Given the description of an element on the screen output the (x, y) to click on. 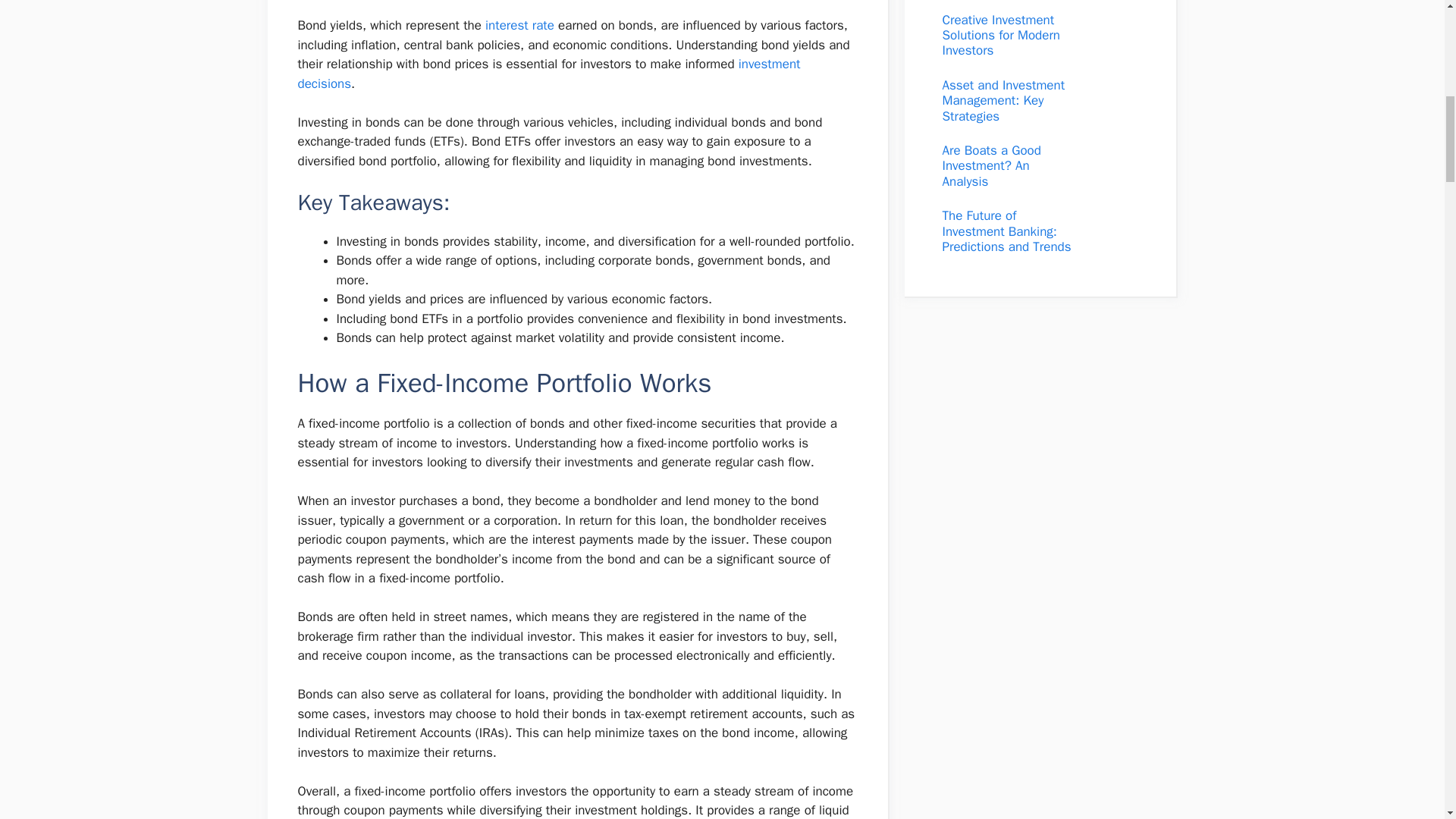
Asset and Investment Management: Key Strategies (1003, 100)
investment decisions (548, 73)
Creative Investment Solutions for Modern Investors (1000, 35)
interest rate (519, 25)
